Given the description of an element on the screen output the (x, y) to click on. 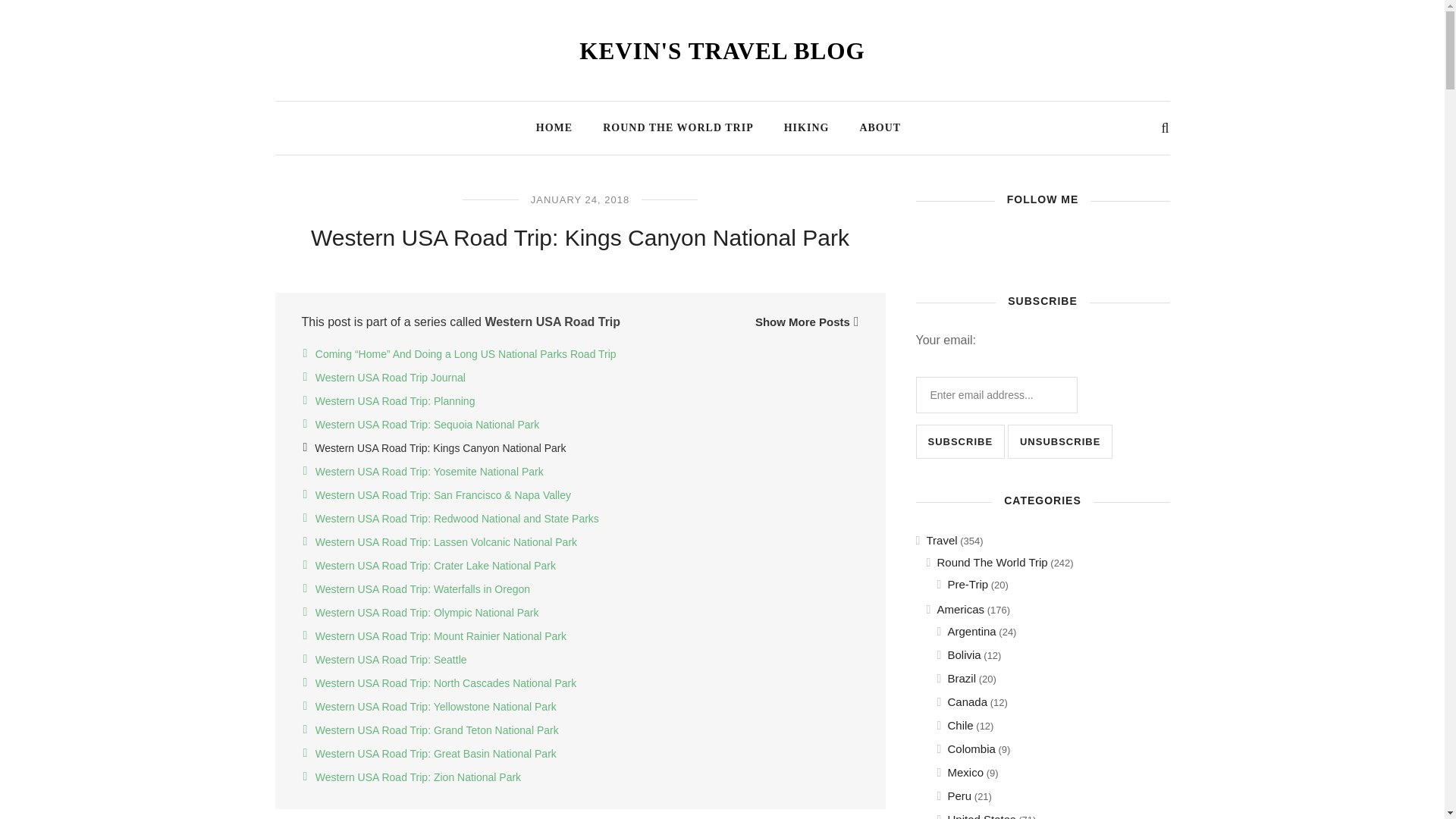
Western USA Road Trip: Yosemite National Park (429, 471)
ROUND THE WORLD TRIP (678, 123)
JANUARY 24, 2018 (579, 199)
Enter email address... (996, 394)
Subscribe (960, 441)
Show More Posts (807, 322)
KEVIN'S TRAVEL BLOG (721, 50)
Western USA Road Trip Journal (390, 377)
Kevin's Travel Blog (721, 50)
HOME (553, 123)
